Given the description of an element on the screen output the (x, y) to click on. 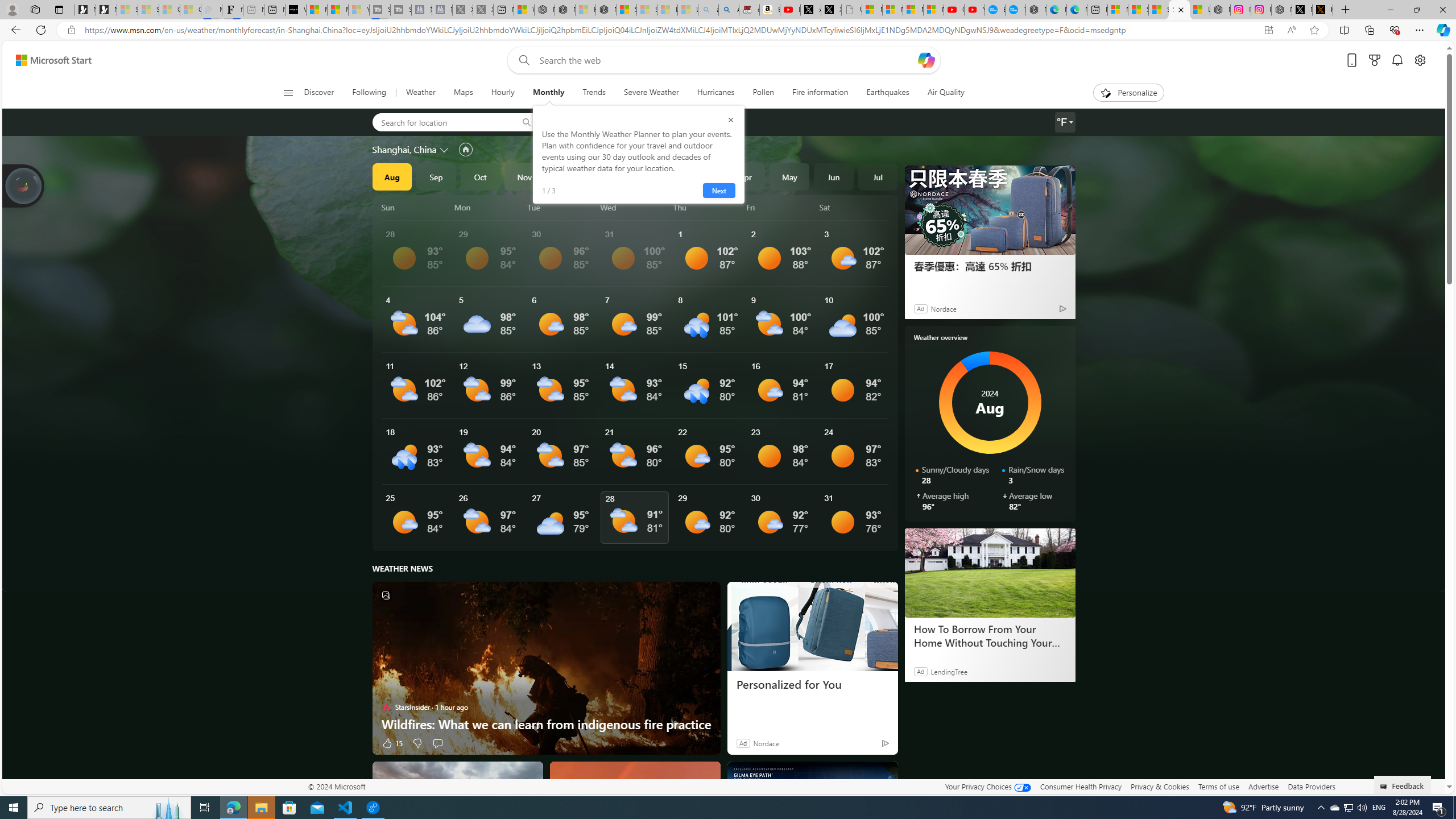
Wildfires: What we can learn from indigenous fire practice (546, 723)
Sep (435, 176)
